Given the description of an element on the screen output the (x, y) to click on. 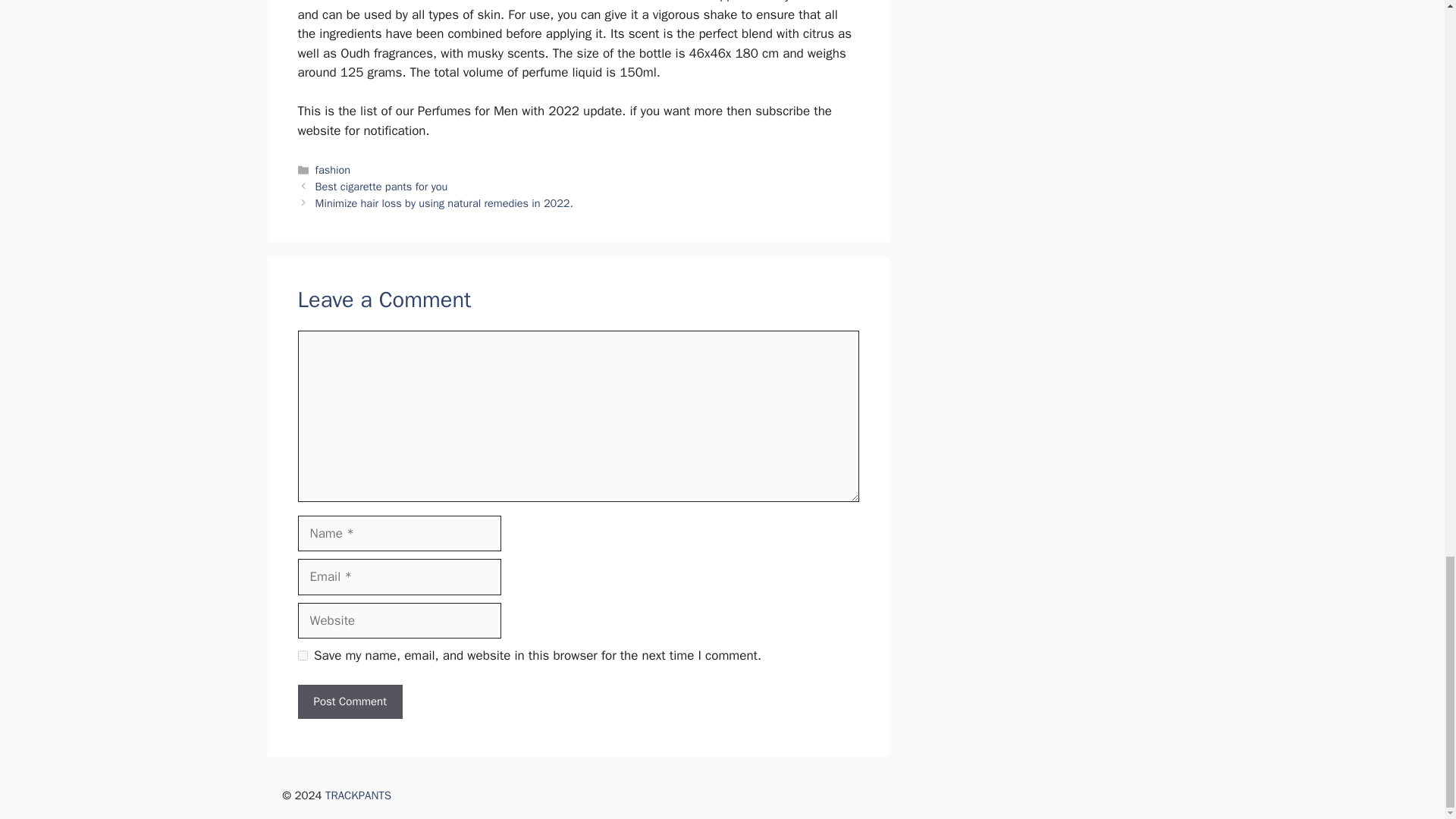
Minimize hair loss by using natural remedies in 2022. (444, 202)
Best cigarette pants for you (381, 186)
Post Comment (349, 701)
fashion (332, 169)
TRACKPANTS (357, 795)
Post Comment (349, 701)
Perfume (393, 1)
yes (302, 655)
